Given the description of an element on the screen output the (x, y) to click on. 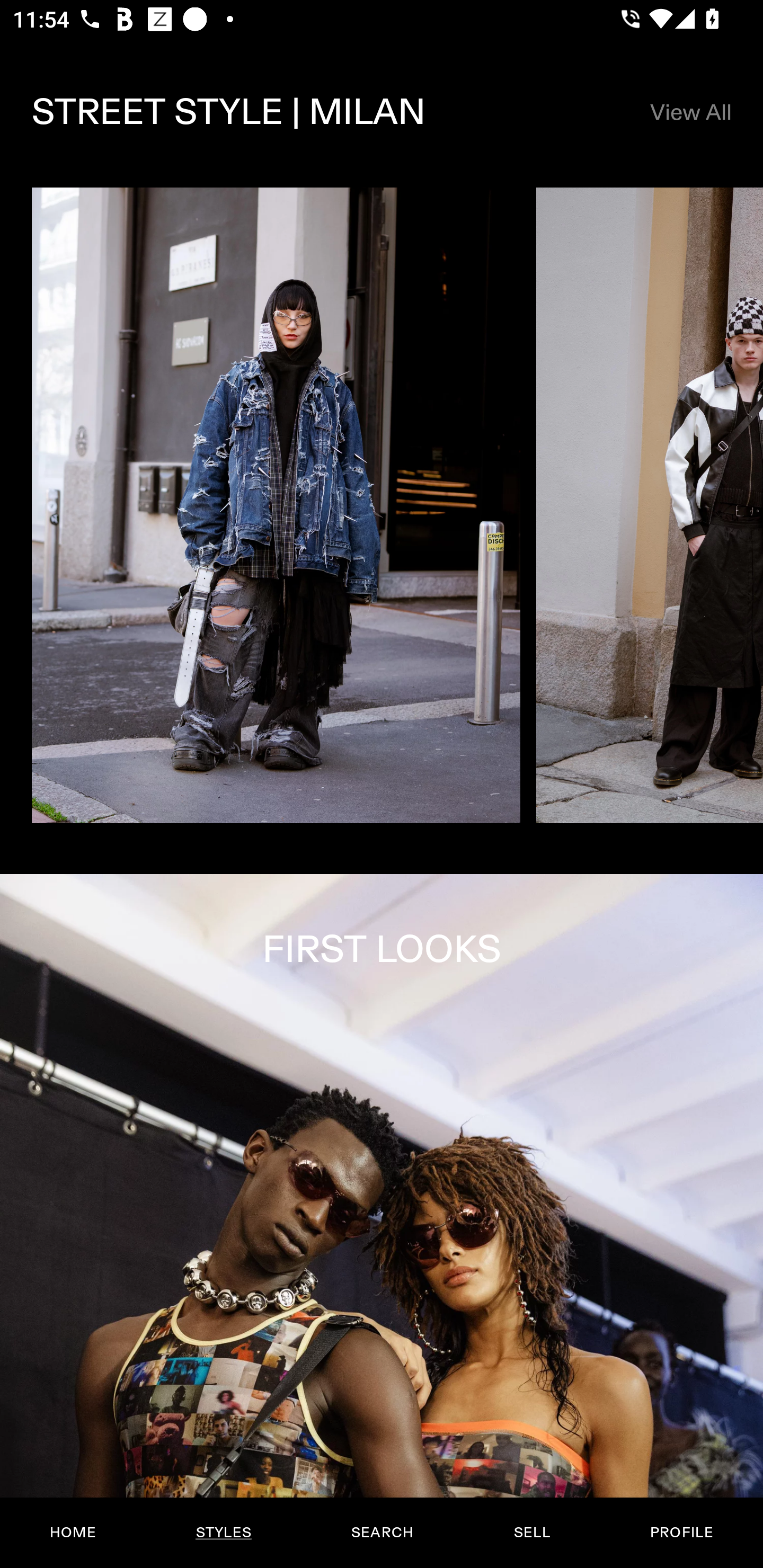
View All (690, 112)
FIRST LOOKS DIESEL FALL '24 (381, 1220)
HOME (72, 1532)
STYLES (222, 1532)
SEARCH (381, 1532)
SELL (531, 1532)
PROFILE (681, 1532)
